Given the description of an element on the screen output the (x, y) to click on. 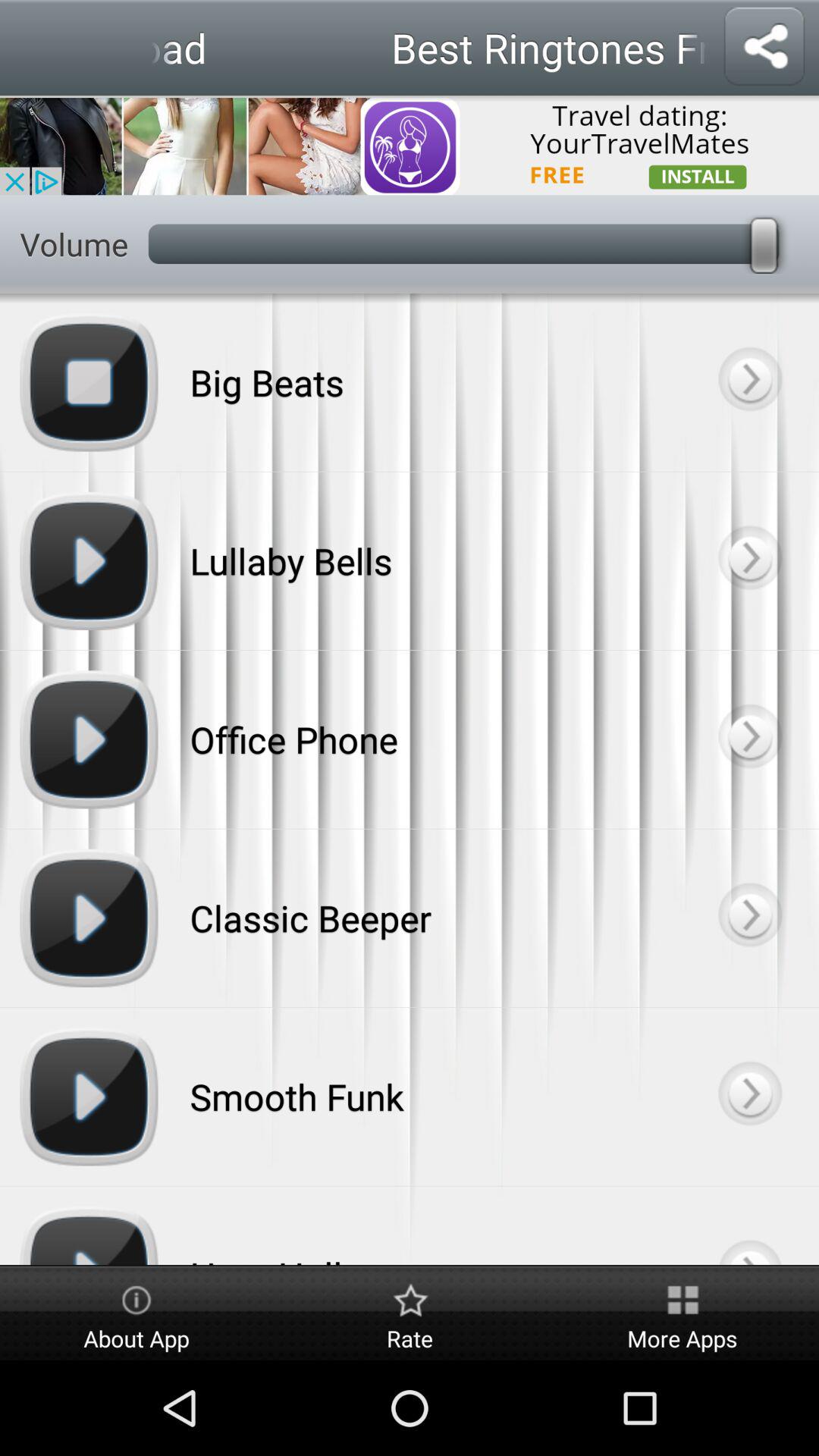
this next button (749, 1225)
